Given the description of an element on the screen output the (x, y) to click on. 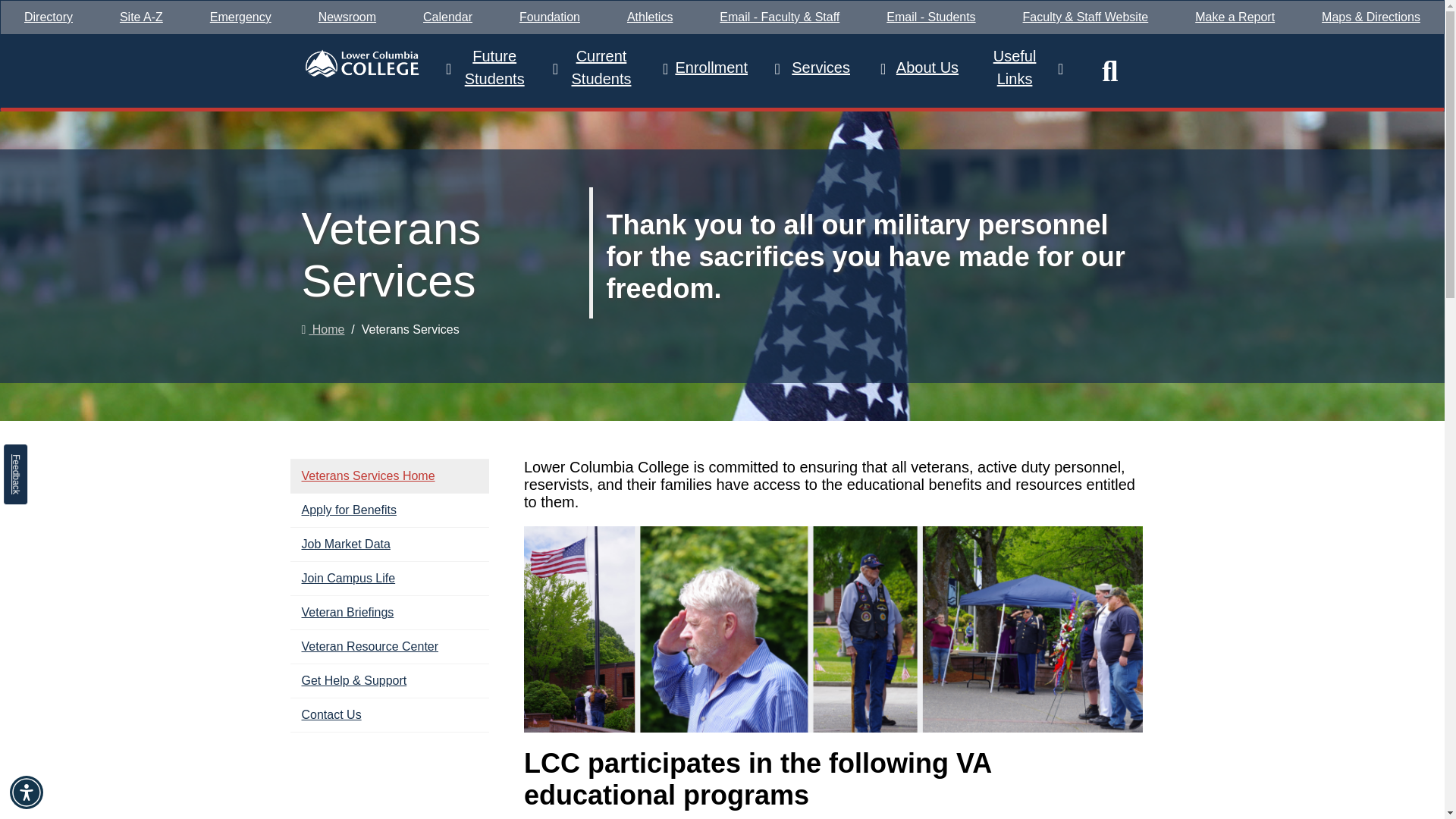
Future Students (486, 70)
Newsroom (346, 16)
Make a Report (1235, 16)
Feedback (34, 455)
Accessibility Menu (26, 792)
Athletics (649, 16)
Foundation (549, 16)
Site A-Z (141, 16)
Directory (48, 16)
Email - Students (930, 16)
LCC Website Logo (361, 62)
Emergency (239, 16)
Calendar (447, 16)
Memorial Day 2019 Photo Collage (833, 629)
